Given the description of an element on the screen output the (x, y) to click on. 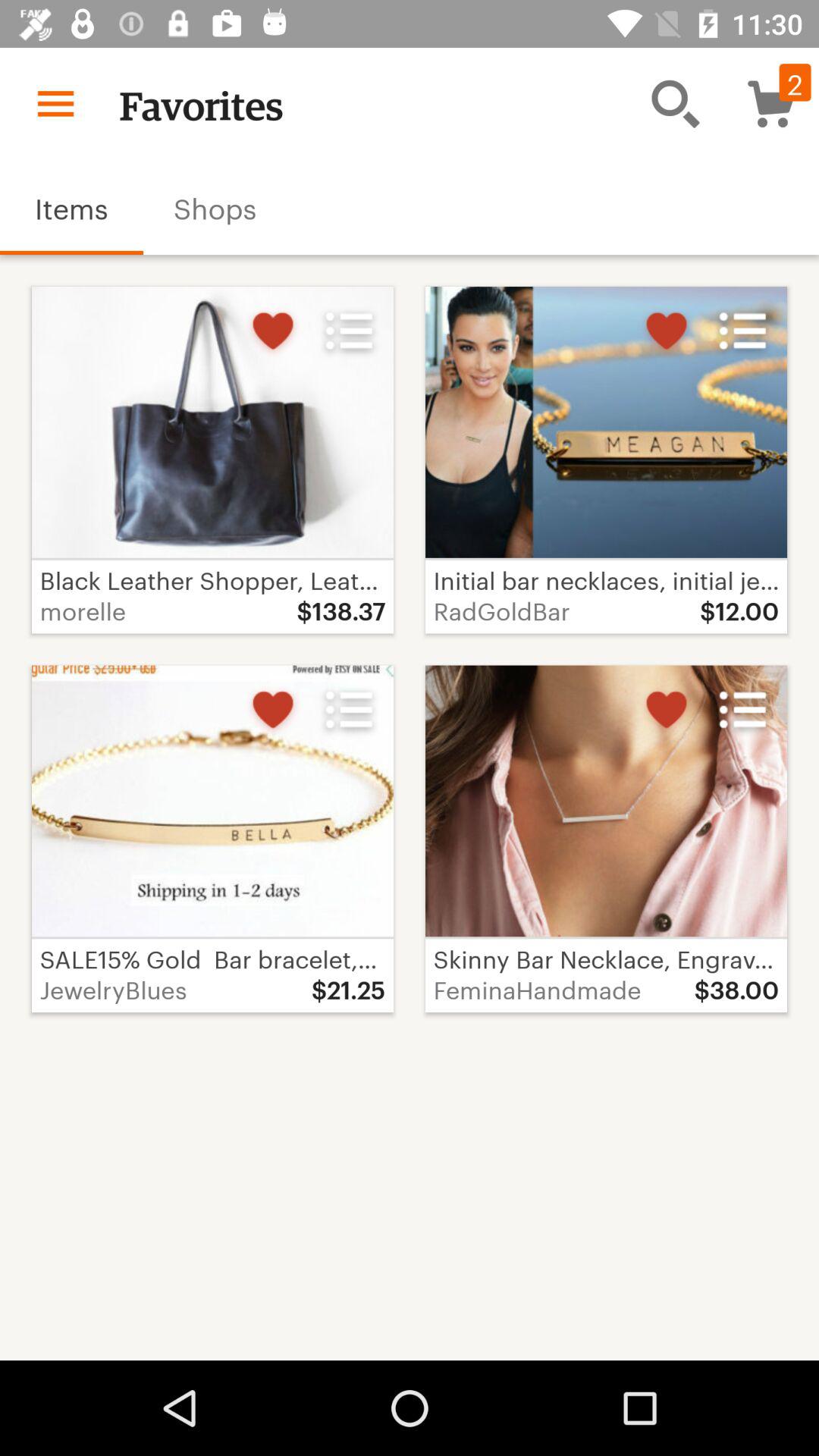
tap item to the left of favorites (55, 103)
